Given the description of an element on the screen output the (x, y) to click on. 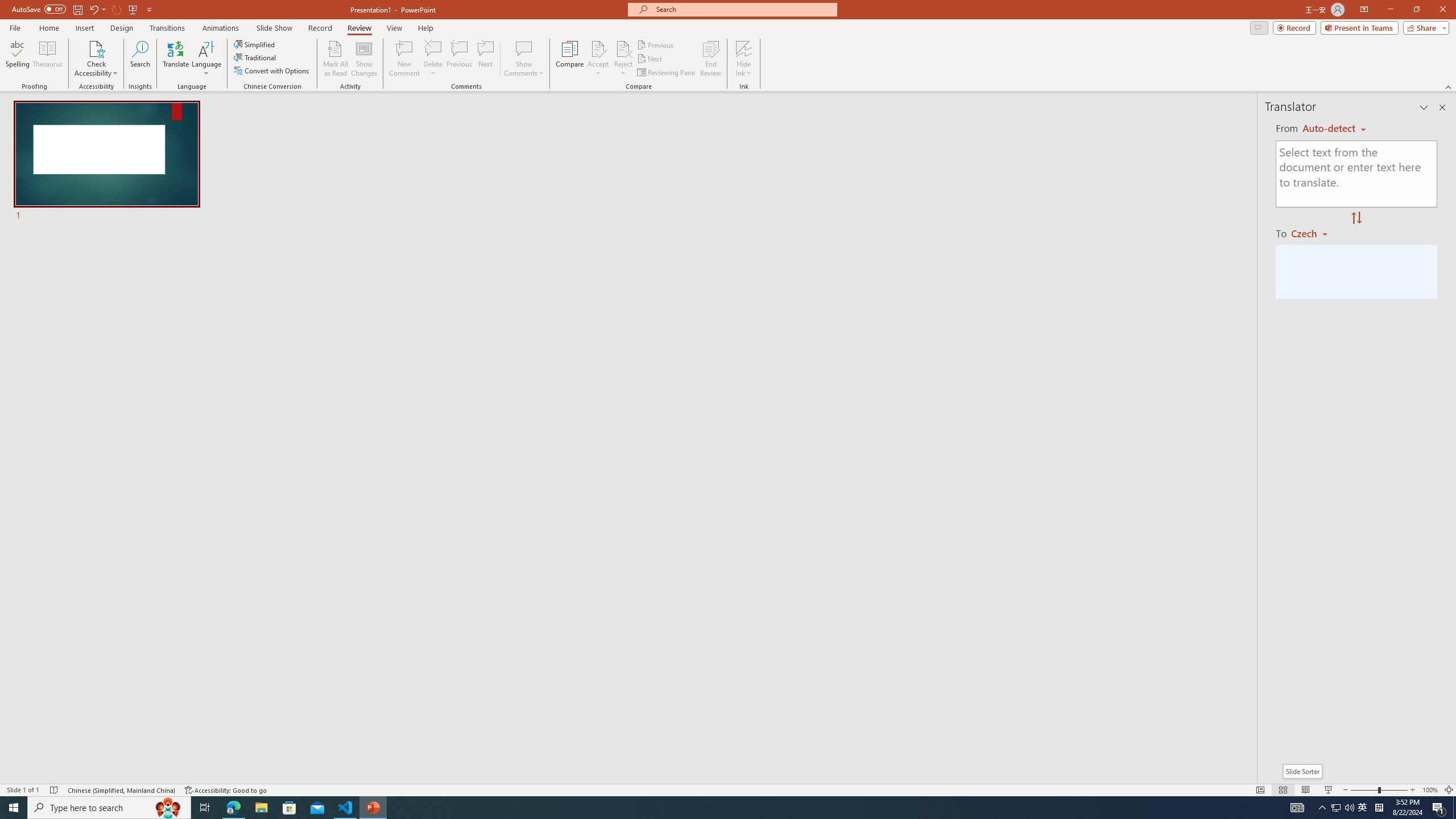
Auto-detect (1334, 128)
Next (649, 58)
New Comment (403, 58)
Slide (106, 161)
Check Accessibility (95, 48)
Mark All as Read (335, 58)
Translate (175, 58)
Language (206, 58)
